Given the description of an element on the screen output the (x, y) to click on. 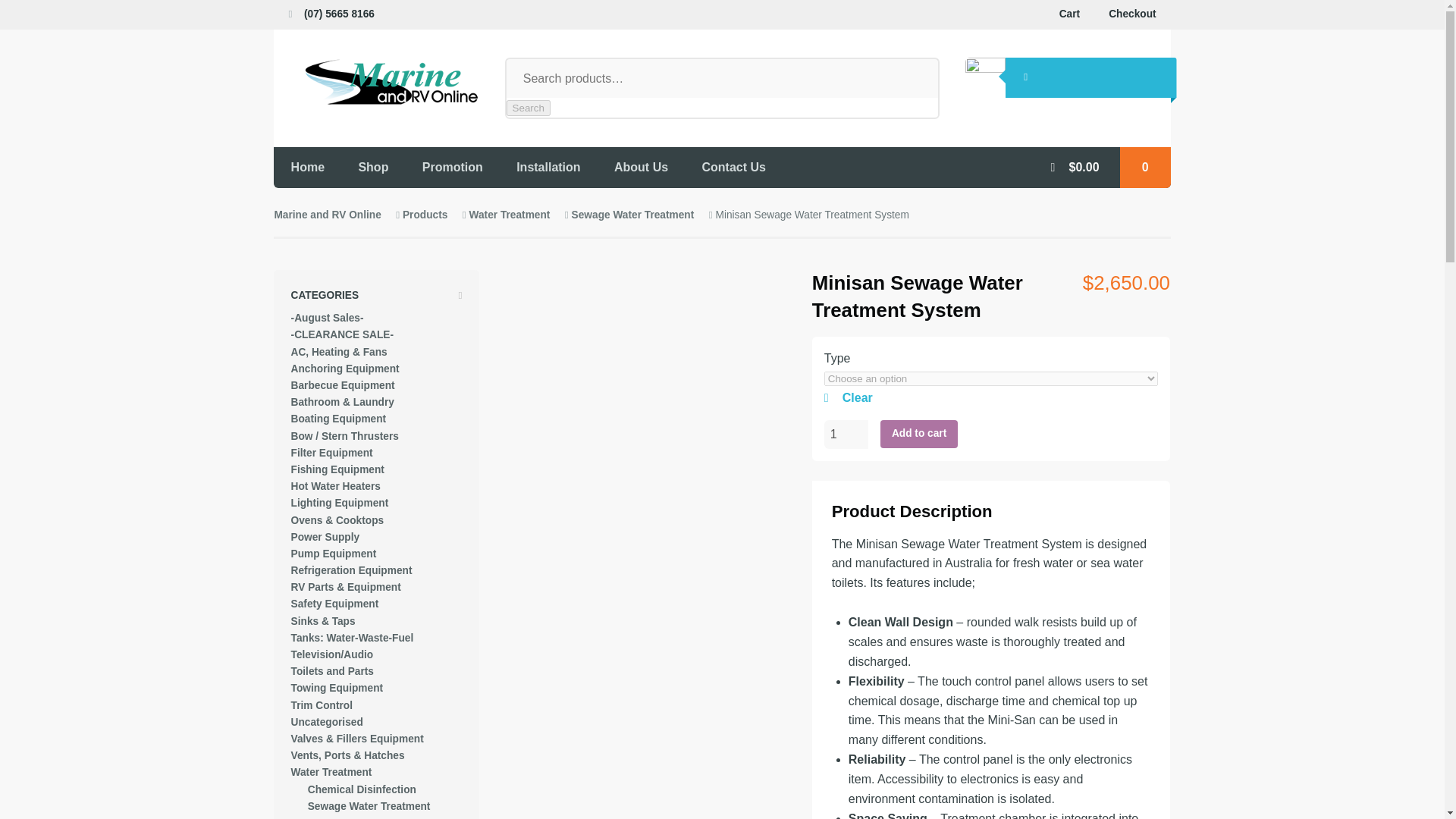
Checkout (1132, 14)
Installation (547, 167)
Promotion (452, 167)
Products (424, 214)
1 (845, 434)
Search (528, 107)
Clear (990, 397)
Sewage Water Treatment (633, 214)
Products (424, 214)
Contact Us (733, 167)
